Given the description of an element on the screen output the (x, y) to click on. 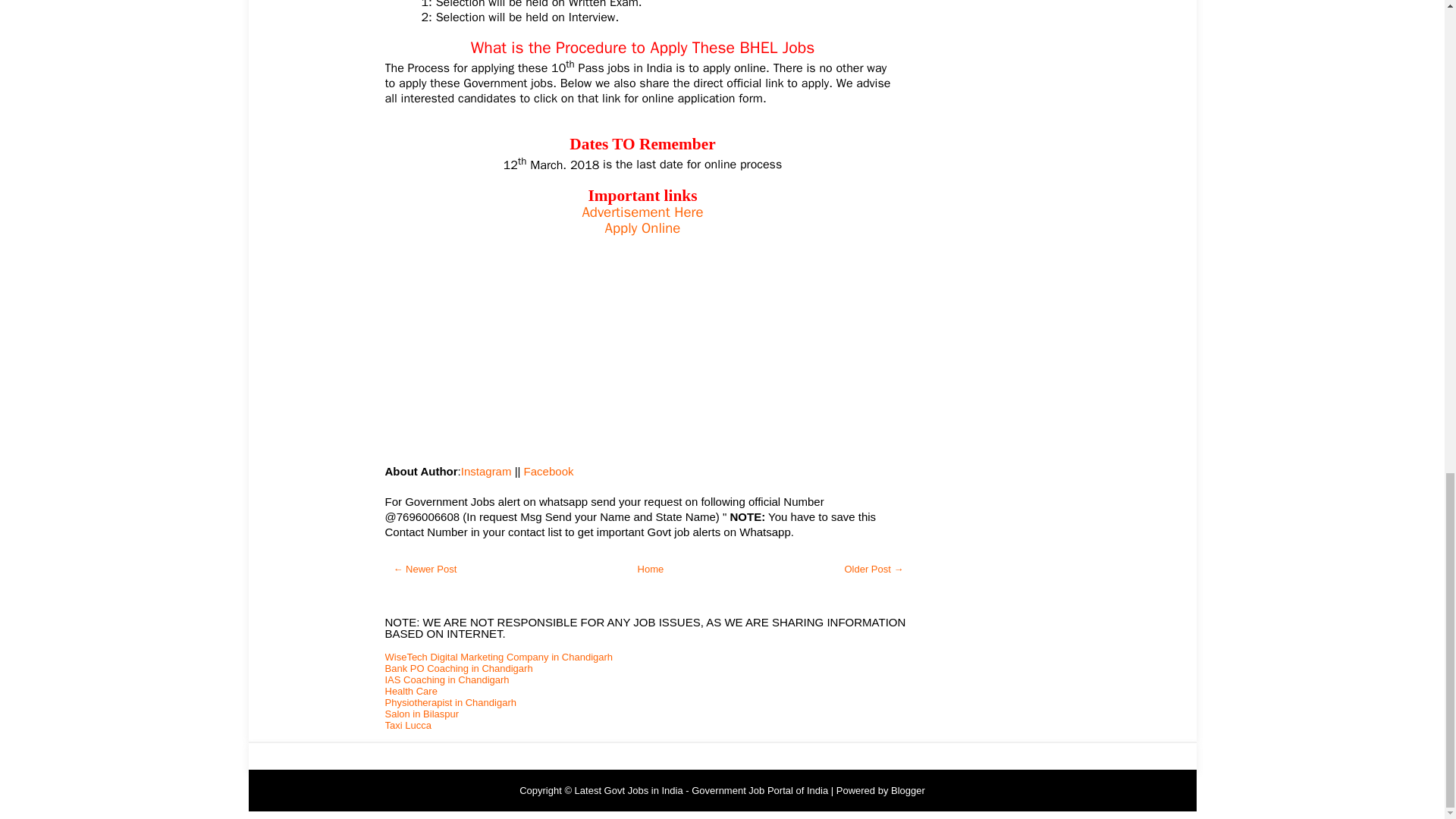
Older Post (873, 568)
Newer Post (425, 568)
